Given the description of an element on the screen output the (x, y) to click on. 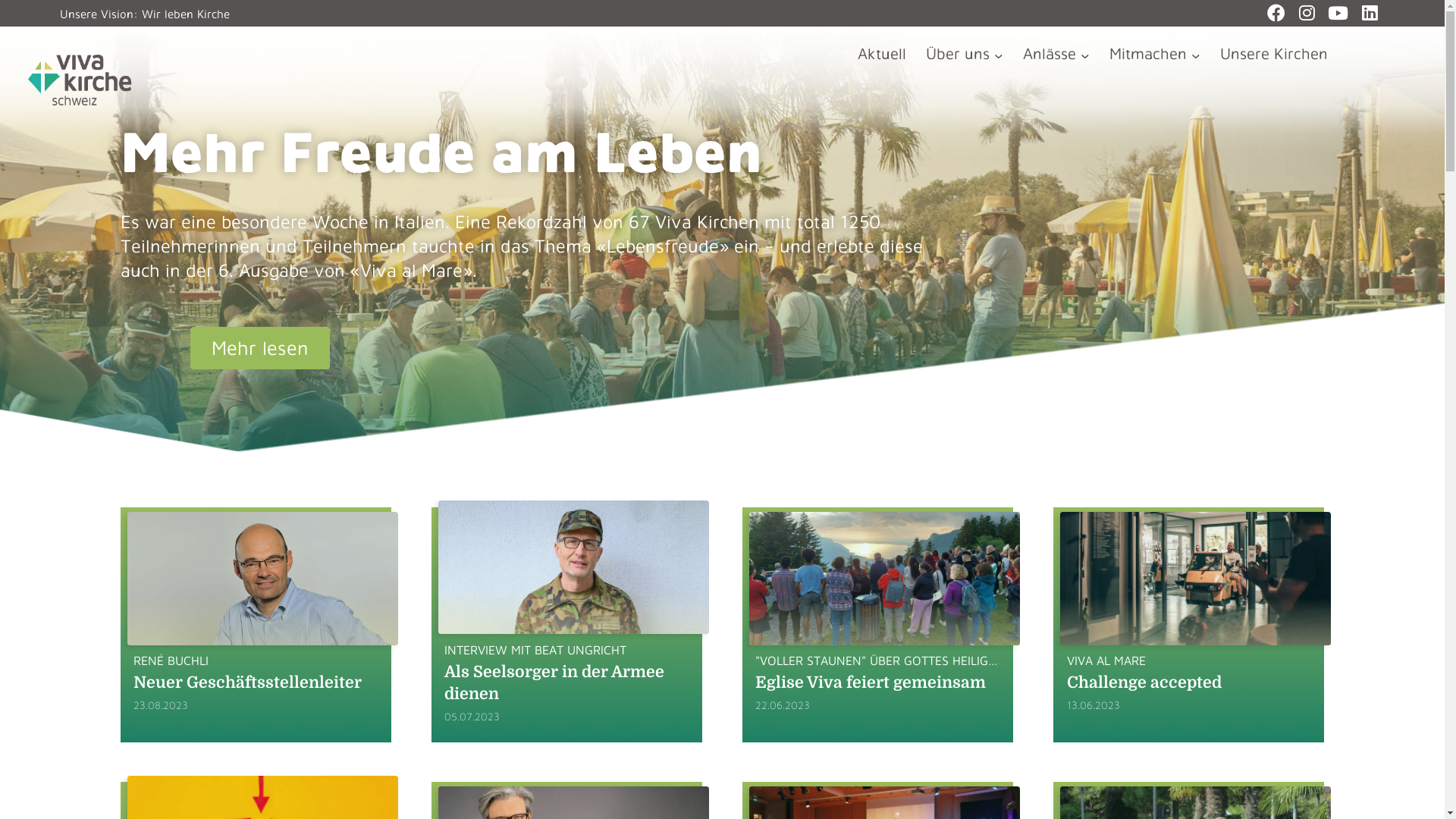
VIVA AL MARE
Challenge accepted
13.06.2023 Element type: text (1188, 624)
Mitmachen Element type: text (1154, 52)
Mehr lesen Element type: text (259, 347)
Unsere Kirchen Element type: text (1273, 52)
Aktuell Element type: text (881, 52)
